Given the description of an element on the screen output the (x, y) to click on. 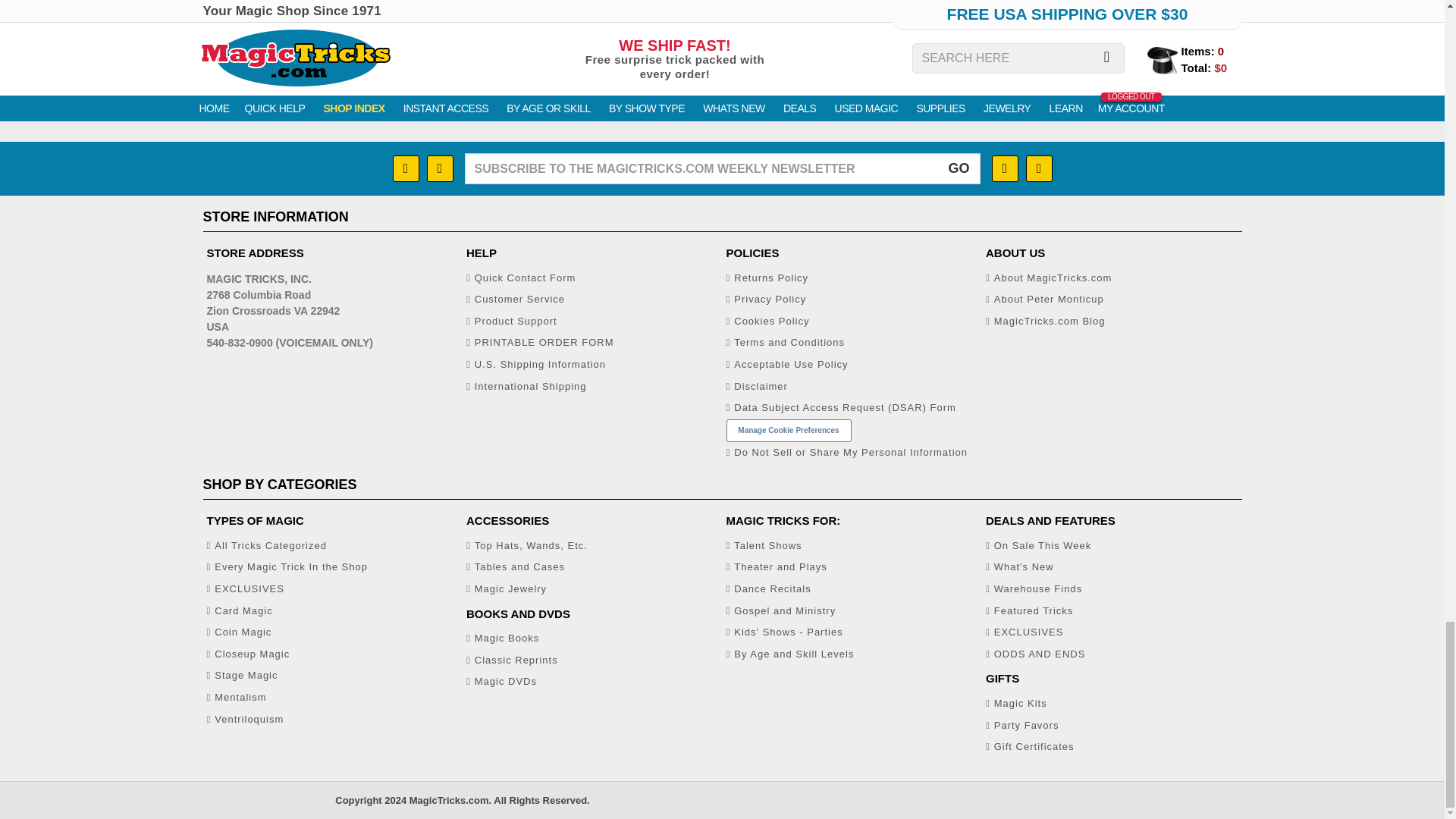
Follow Us on Instagram (439, 168)
Follow Us on Pinterest (1004, 168)
Like Us on Facebook (406, 168)
Follow Us on Twitter (1038, 168)
